Given the description of an element on the screen output the (x, y) to click on. 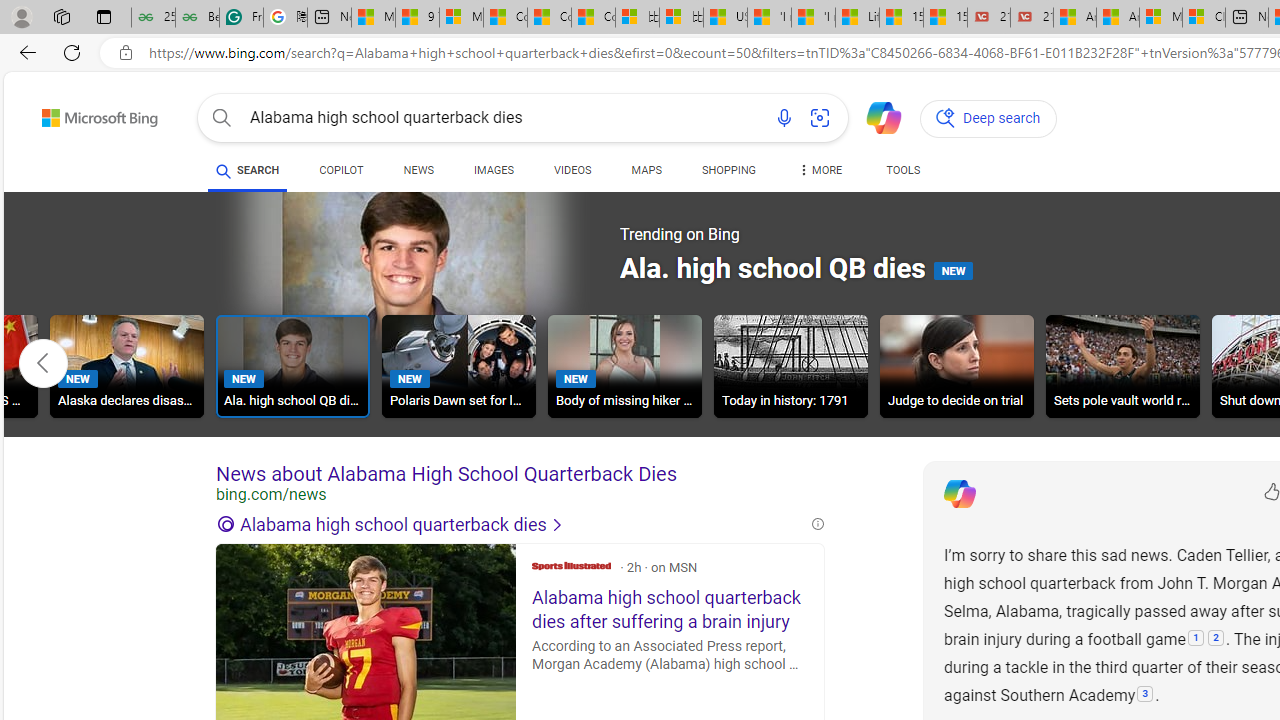
MORE (819, 173)
Today in history: 1791 (790, 365)
Sets pole vault world record (1122, 365)
SEARCH (247, 170)
AutomationID: tob_left_arrow (43, 363)
TOOLS (903, 173)
Judge to decide on trial (957, 369)
